Given the description of an element on the screen output the (x, y) to click on. 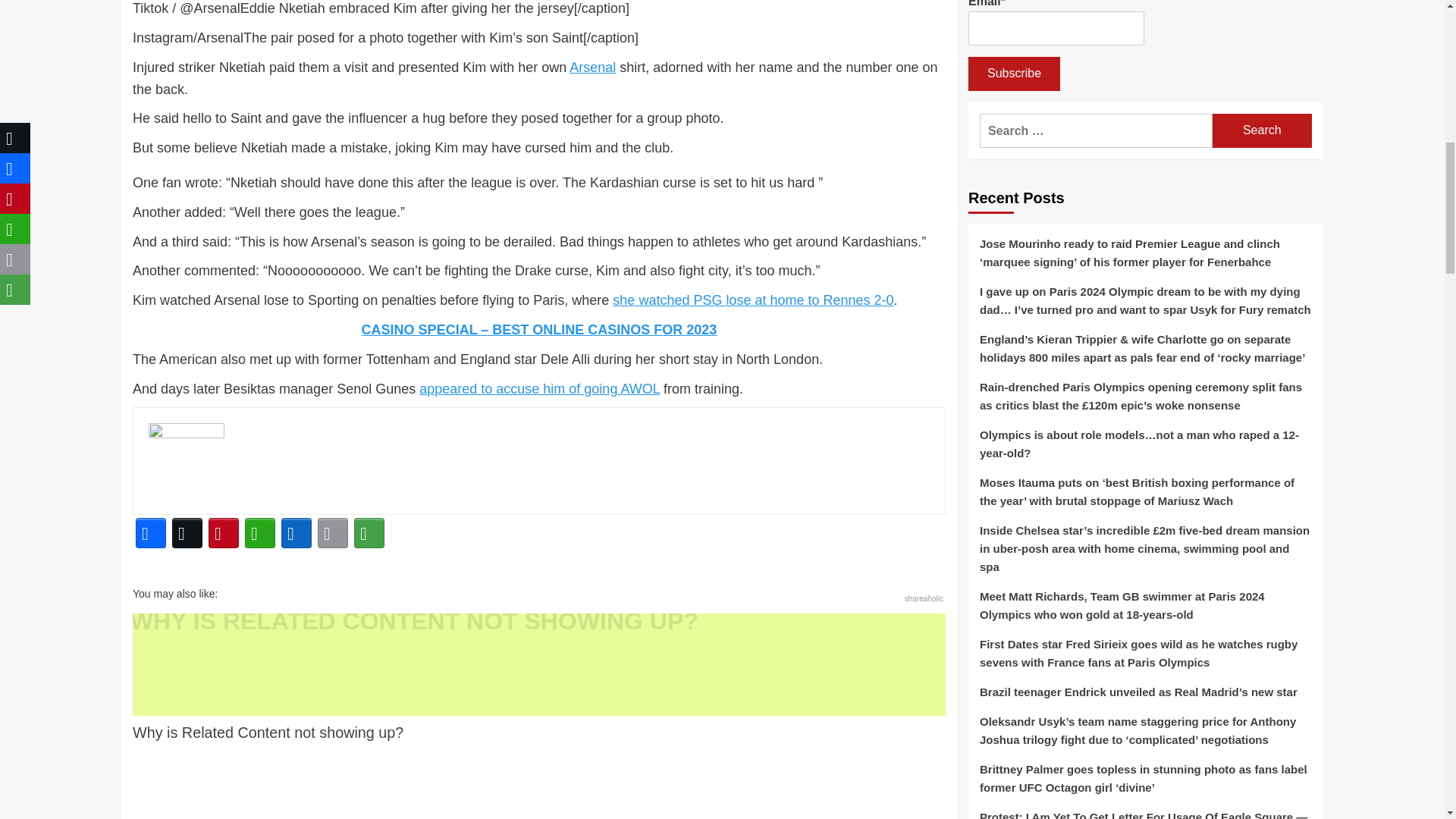
shareaholic (923, 598)
More Options (368, 533)
appeared to accuse him of going AWOL (539, 388)
WhatsApp (259, 533)
she watched PSG lose at home to Rennes 2-0 (752, 299)
Search (1261, 130)
Arsenal (592, 67)
LinkedIn (296, 533)
Why is Related Content not showing up? (538, 678)
Search (1261, 130)
Facebook (150, 533)
Email This (332, 533)
Subscribe (1013, 73)
Pinterest (223, 533)
